Given the description of an element on the screen output the (x, y) to click on. 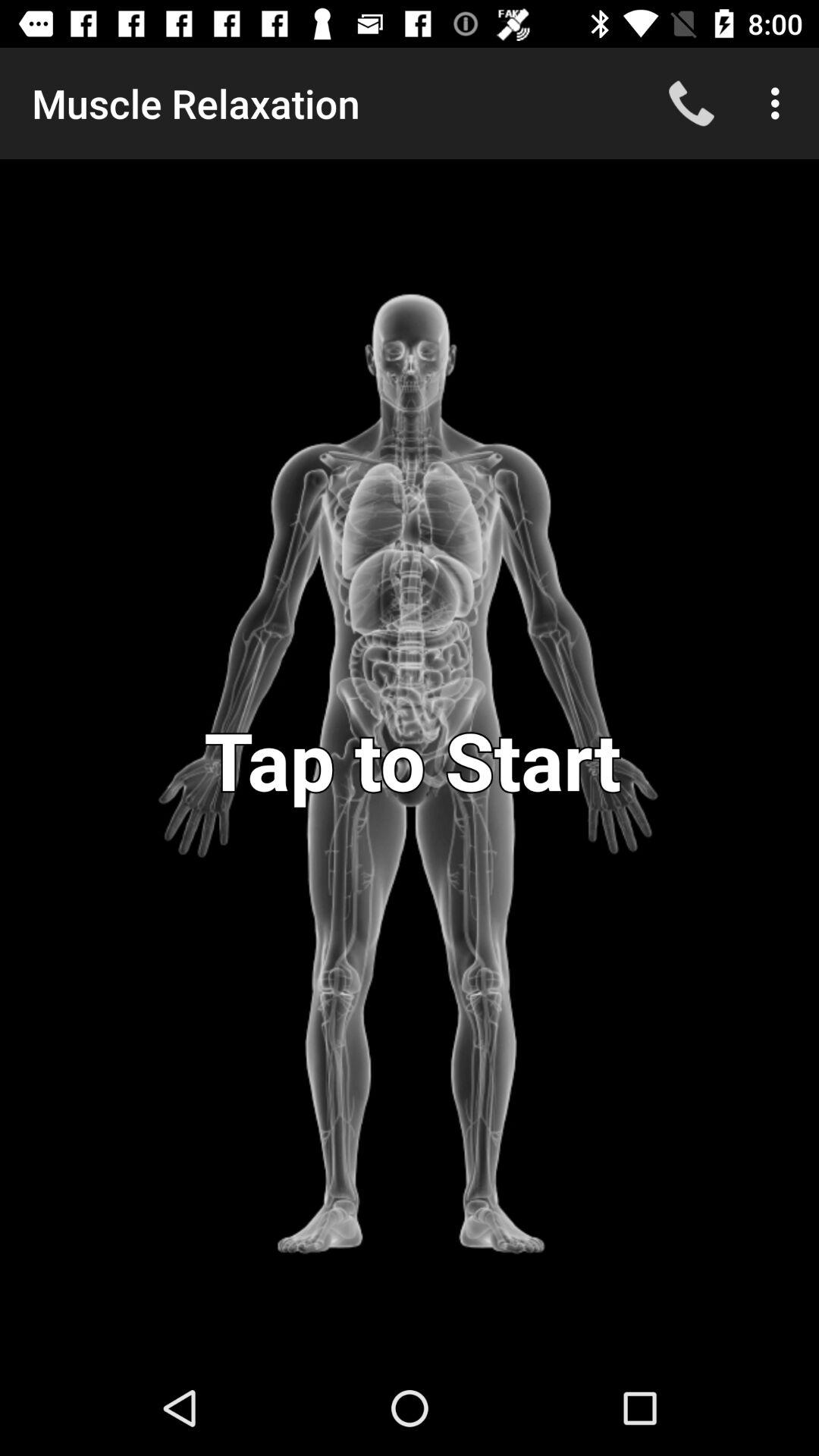
turn off app next to muscle relaxation app (691, 103)
